Given the description of an element on the screen output the (x, y) to click on. 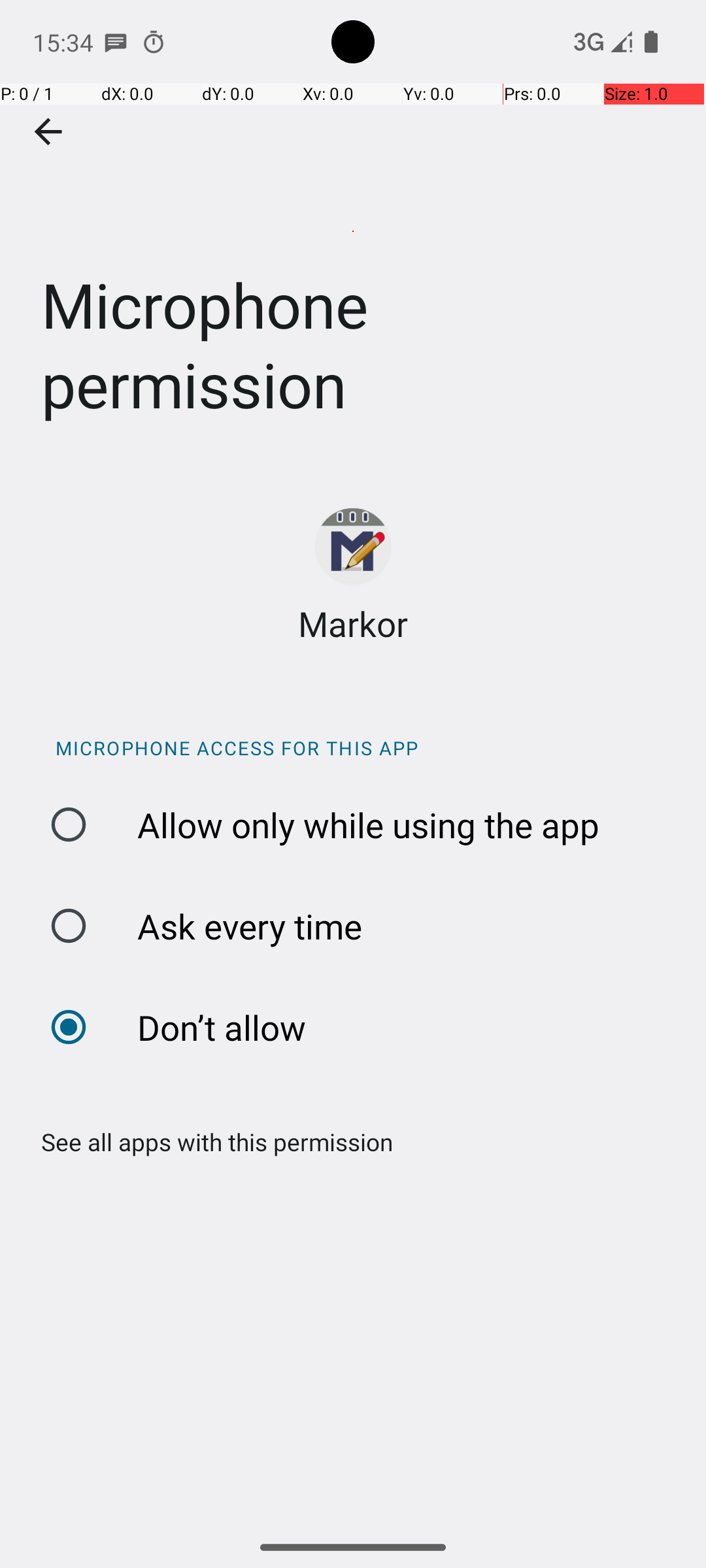
Microphone permission Element type: android.widget.FrameLayout (353, 231)
MICROPHONE ACCESS FOR THIS APP Element type: android.widget.TextView (359, 747)
See all apps with this permission Element type: android.widget.TextView (210, 1141)
Allow only while using the app Element type: android.widget.RadioButton (359, 824)
Ask every time Element type: android.widget.RadioButton (359, 926)
